Given the description of an element on the screen output the (x, y) to click on. 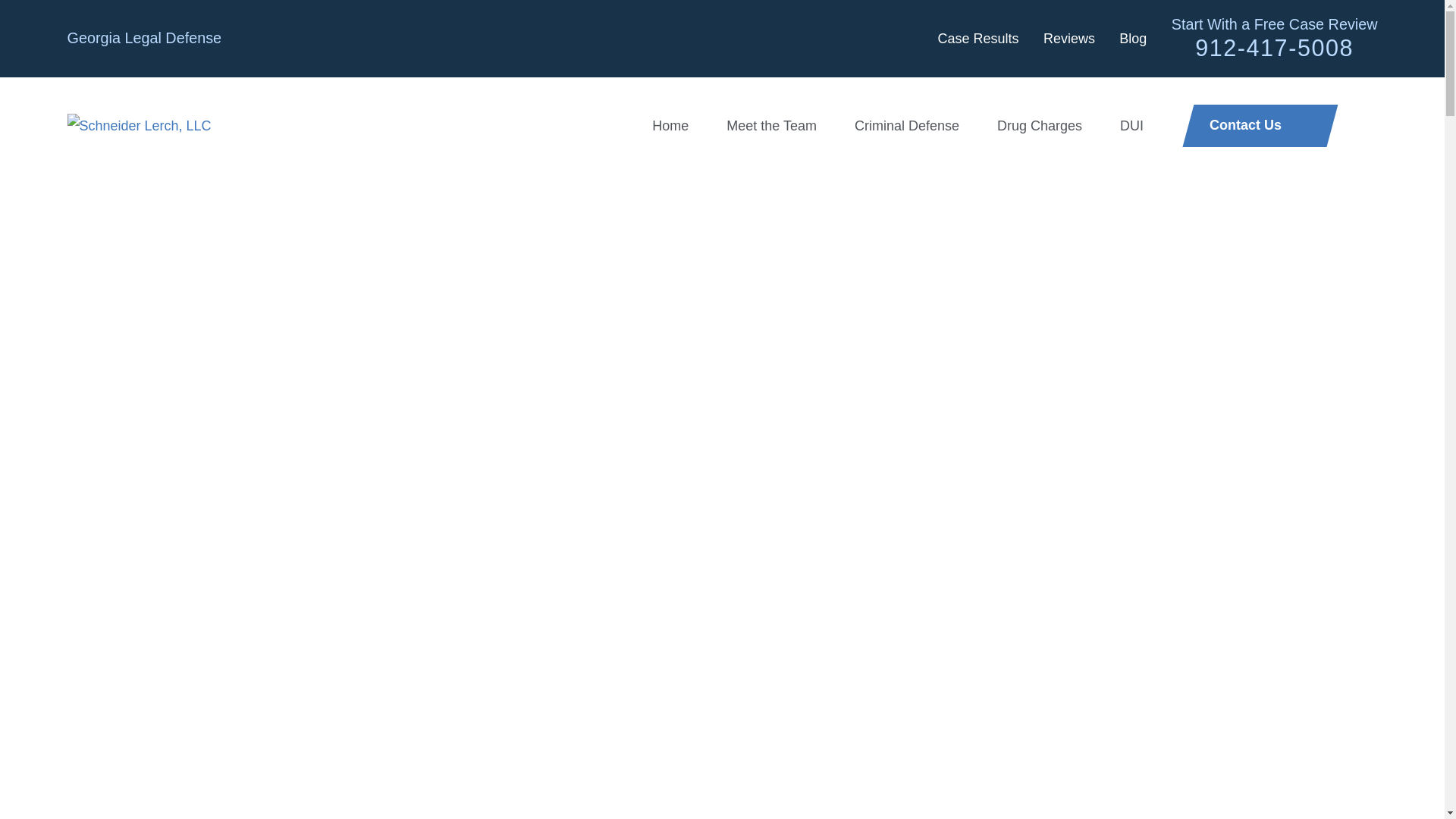
Home (138, 125)
Blog (1133, 38)
912-417-5008 (1274, 47)
Case Results (977, 38)
Meet the Team (771, 125)
Home (670, 125)
Reviews (1068, 38)
Criminal Defense (906, 125)
